Given the description of an element on the screen output the (x, y) to click on. 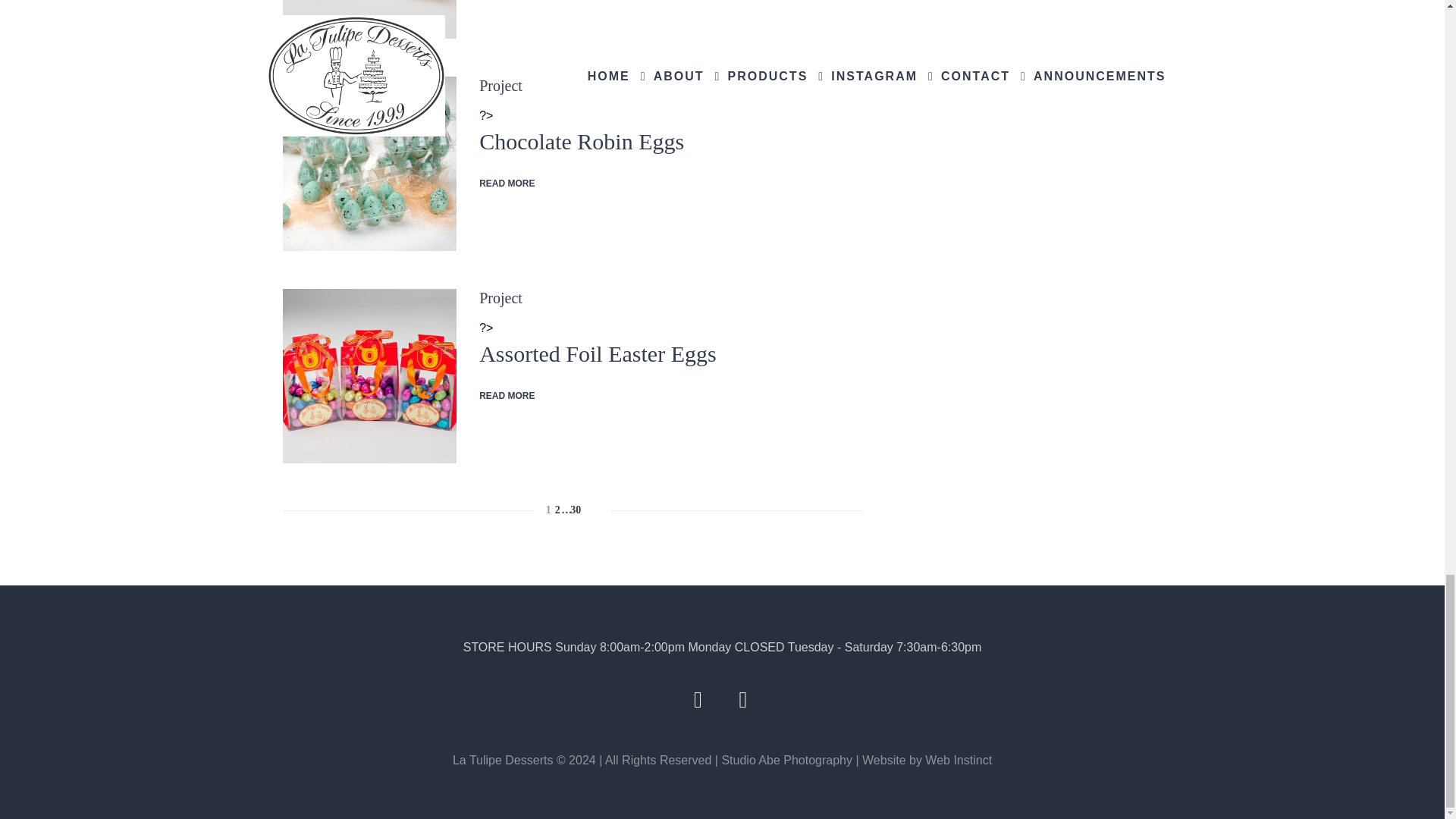
Gruyere Black Pepper Cheese Pretzels (369, 19)
